Given the description of an element on the screen output the (x, y) to click on. 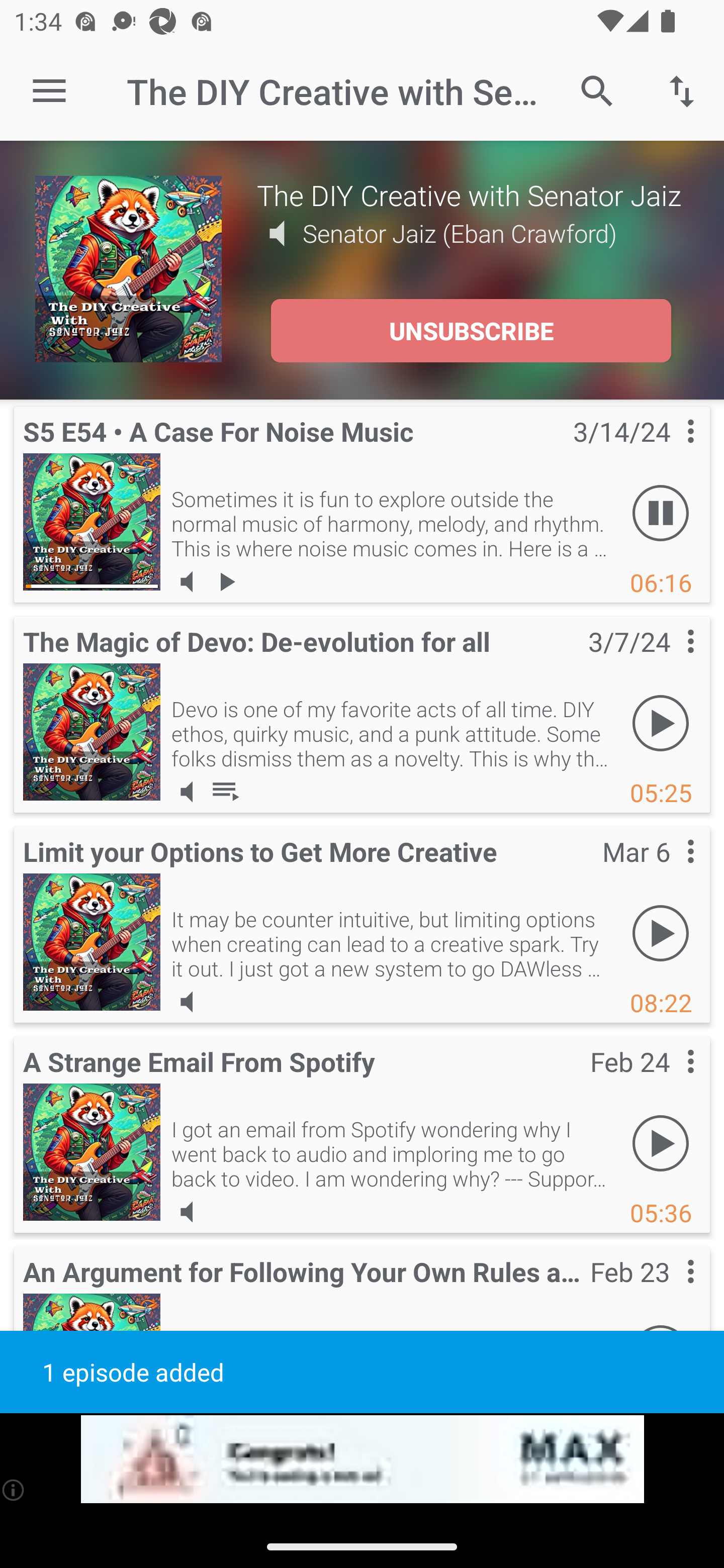
Open navigation sidebar (49, 91)
Search (597, 90)
Sort (681, 90)
UNSUBSCRIBE (470, 330)
Contextual menu (668, 451)
Pause (660, 513)
Contextual menu (668, 661)
Play (660, 723)
Contextual menu (668, 870)
Play (660, 933)
Contextual menu (668, 1080)
Play (660, 1143)
Contextual menu (668, 1290)
app-monetization (362, 1459)
(i) (14, 1489)
